Given the description of an element on the screen output the (x, y) to click on. 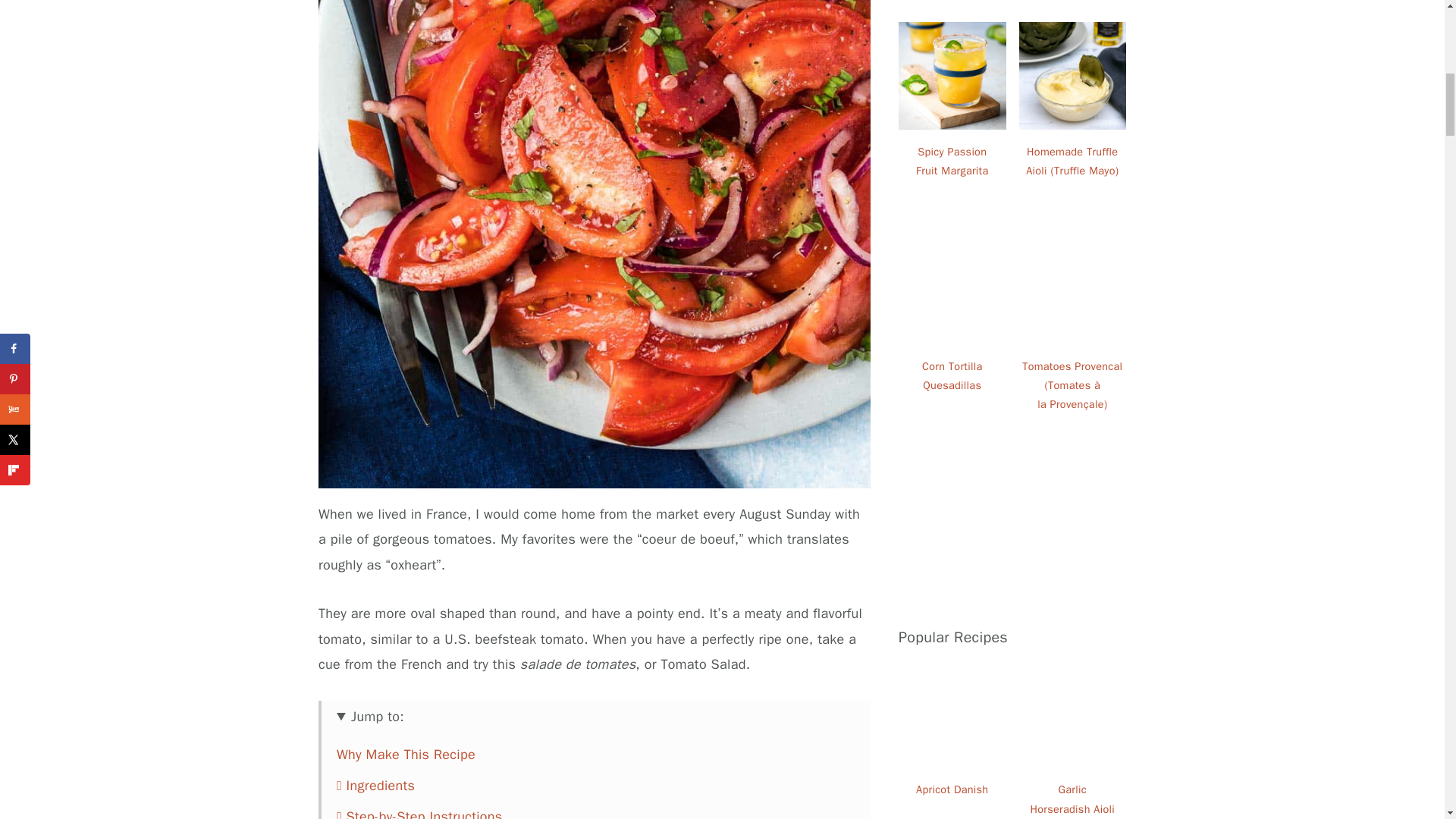
Why Make This Recipe (406, 754)
